Given the description of an element on the screen output the (x, y) to click on. 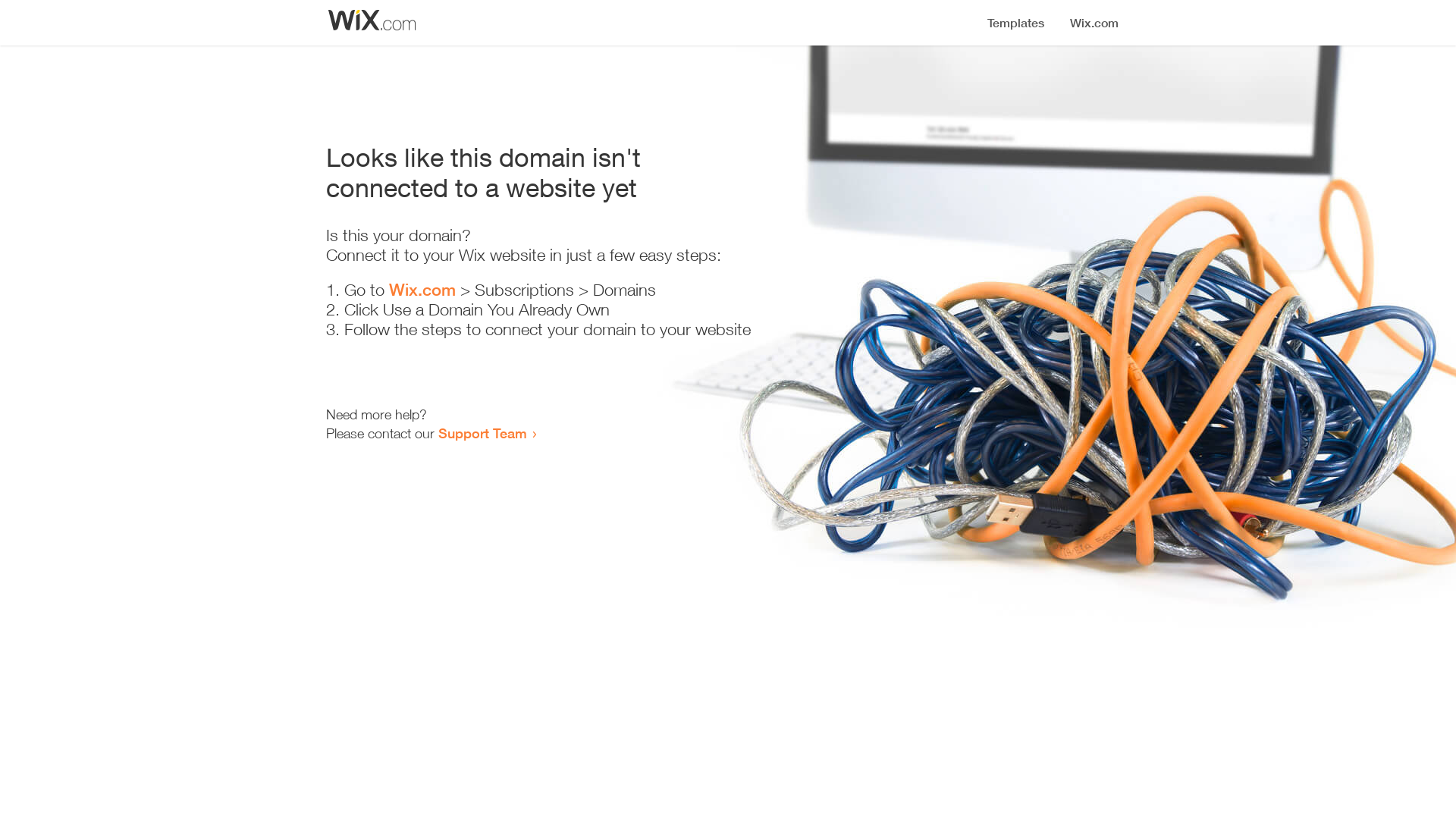
Support Team Element type: text (482, 432)
Wix.com Element type: text (422, 289)
